Given the description of an element on the screen output the (x, y) to click on. 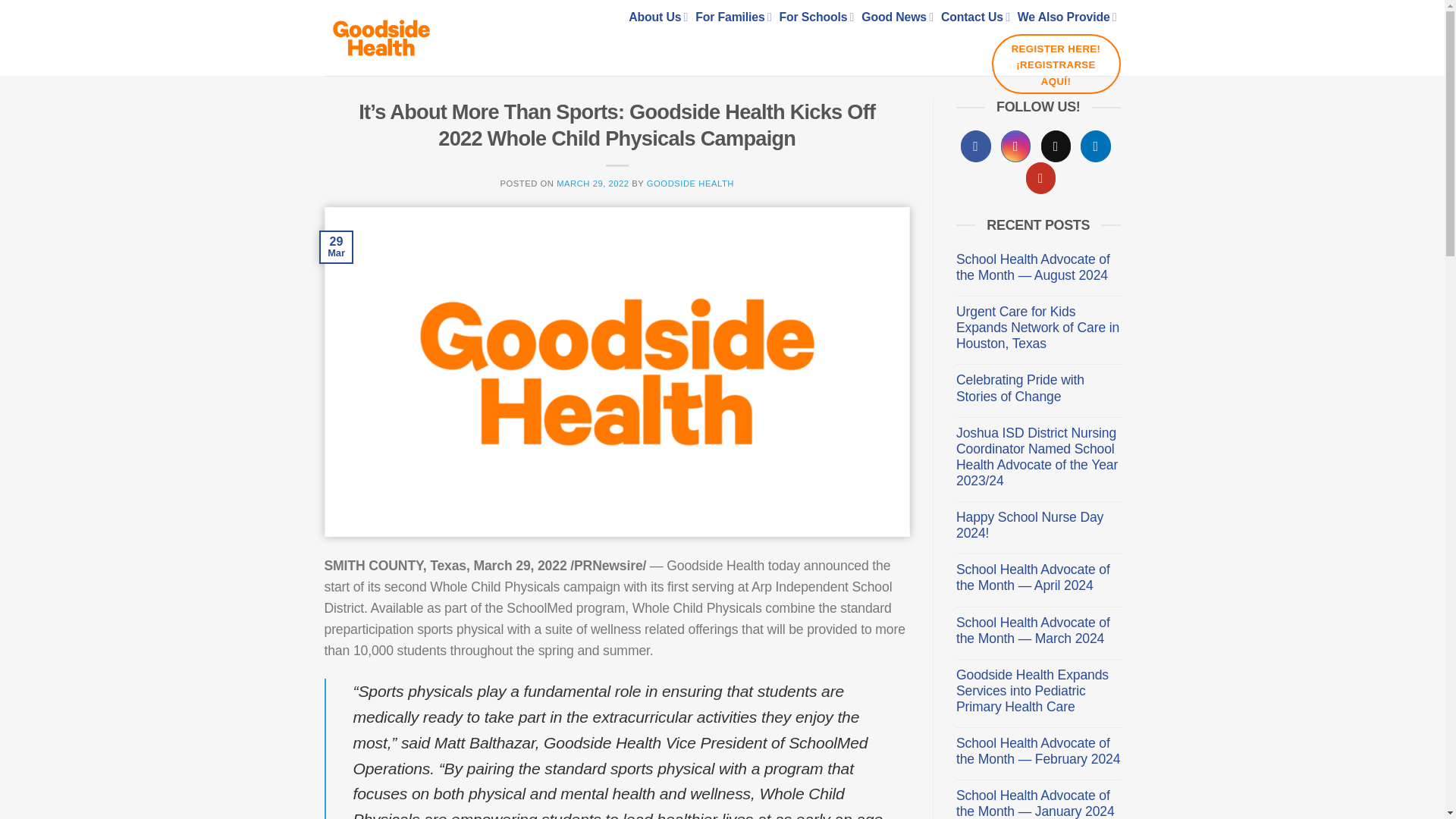
We Also Provide (1066, 17)
Follow on YouTube (1041, 178)
Follow on Instagram (1015, 146)
Contact Us (975, 17)
MARCH 29, 2022 (592, 183)
Good News (897, 17)
Follow on LinkedIn (1095, 146)
About Us (657, 17)
For Schools (816, 17)
